Given the description of an element on the screen output the (x, y) to click on. 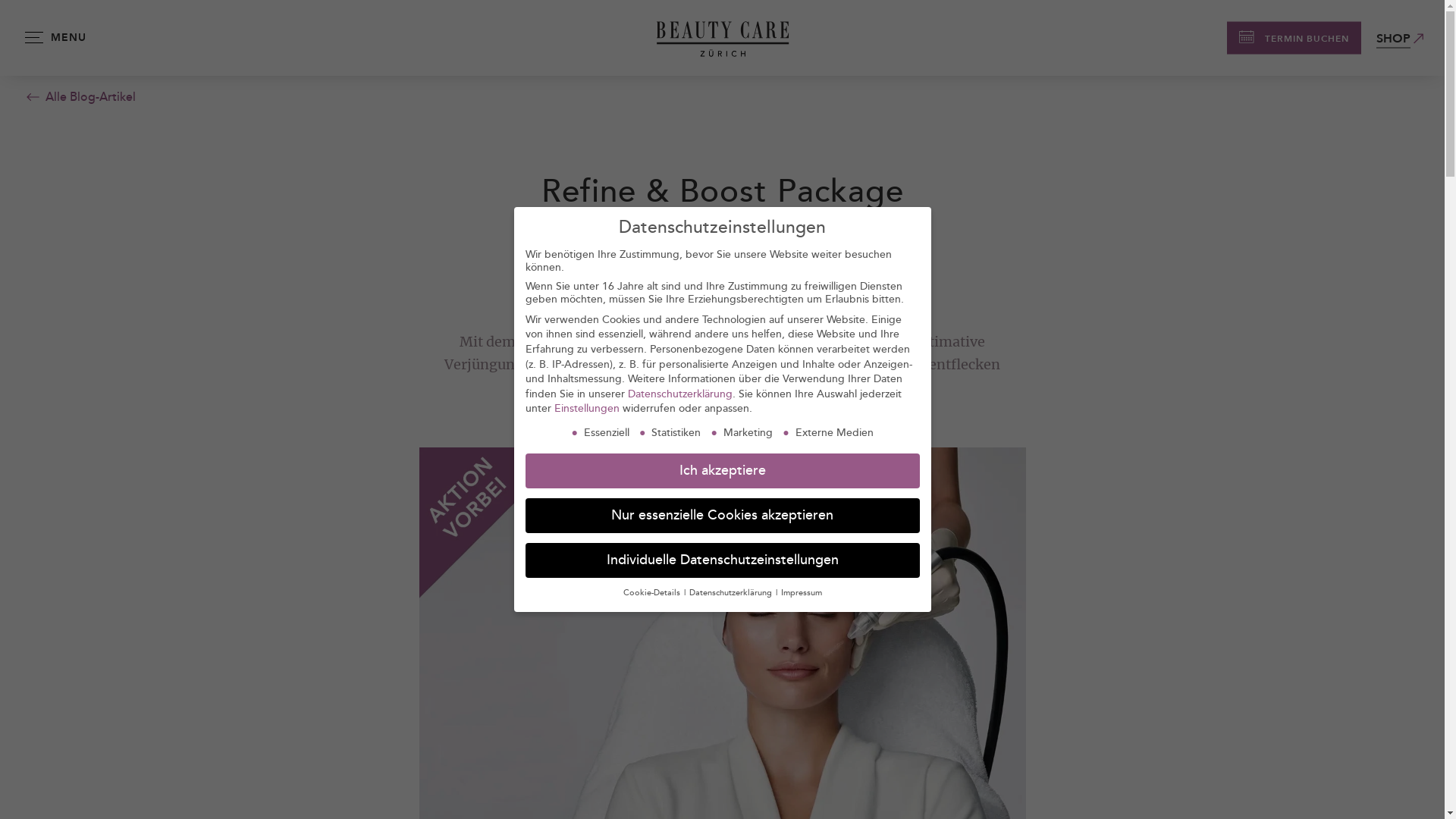
SHOP Element type: text (1393, 38)
TERMIN BUCHEN Element type: text (1294, 37)
Nur essenzielle Cookies akzeptieren Element type: text (721, 515)
Cookie-Details Element type: text (652, 592)
Einstellungen Element type: text (585, 407)
Alle Blog-Artikel Element type: text (78, 96)
Impressum Element type: text (801, 592)
Individuelle Datenschutzeinstellungen Element type: text (721, 559)
Ich akzeptiere Element type: text (721, 470)
